Given the description of an element on the screen output the (x, y) to click on. 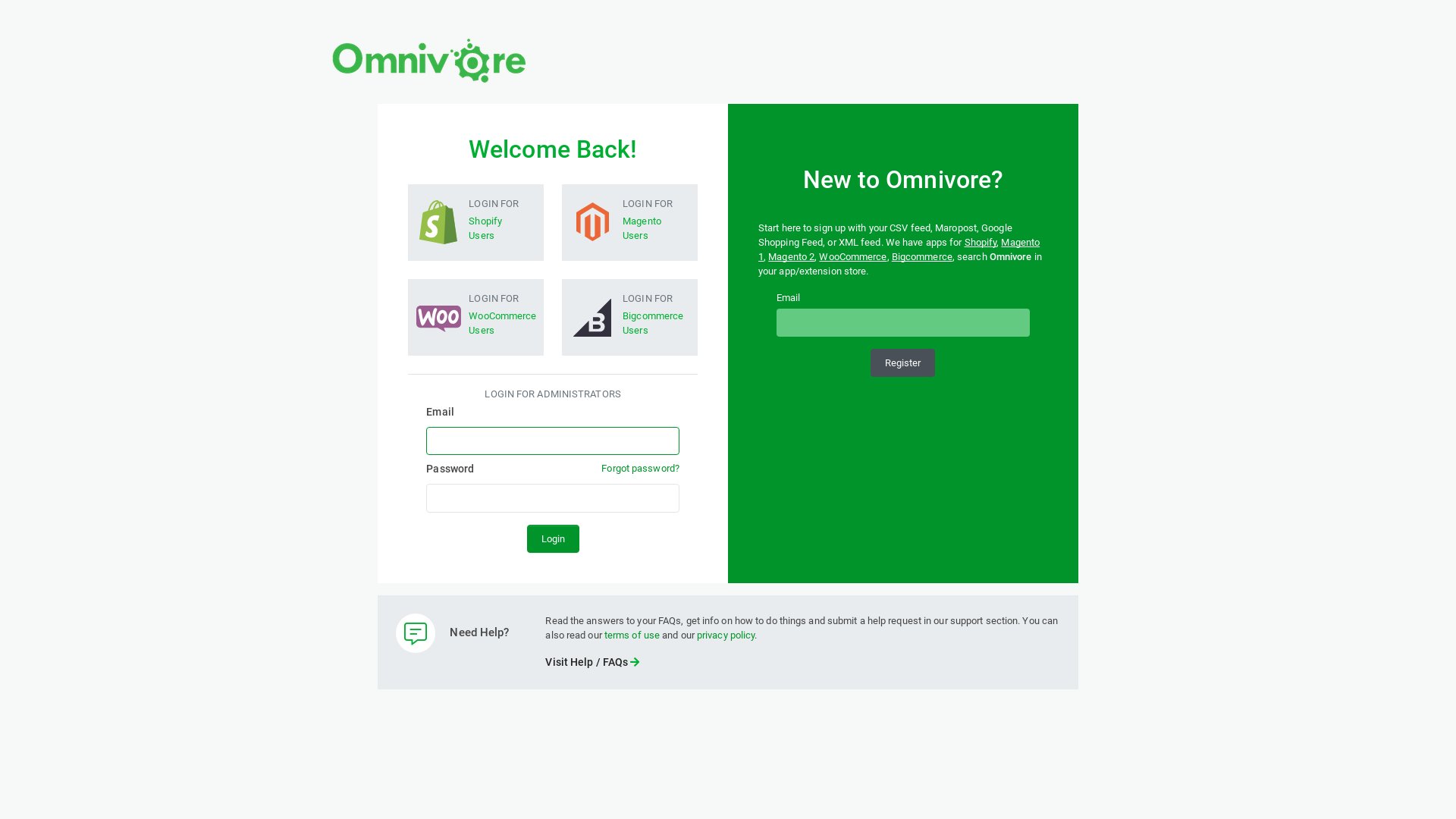
Shopify Element type: text (980, 241)
Forgot password? Element type: text (640, 468)
terms of use Element type: text (631, 634)
Bigcommerce Element type: text (921, 256)
Visit Help / FAQs Element type: text (592, 661)
LOGIN FOR
Bigcommerce
Users Element type: text (629, 313)
Magento 1 Element type: text (898, 249)
LOGIN FOR
Shopify
Users Element type: text (475, 219)
Login Element type: text (553, 538)
privacy policy Element type: text (725, 634)
WooCommerce Element type: text (852, 256)
Register Element type: text (902, 362)
Magento 2 Element type: text (791, 256)
